Given the description of an element on the screen output the (x, y) to click on. 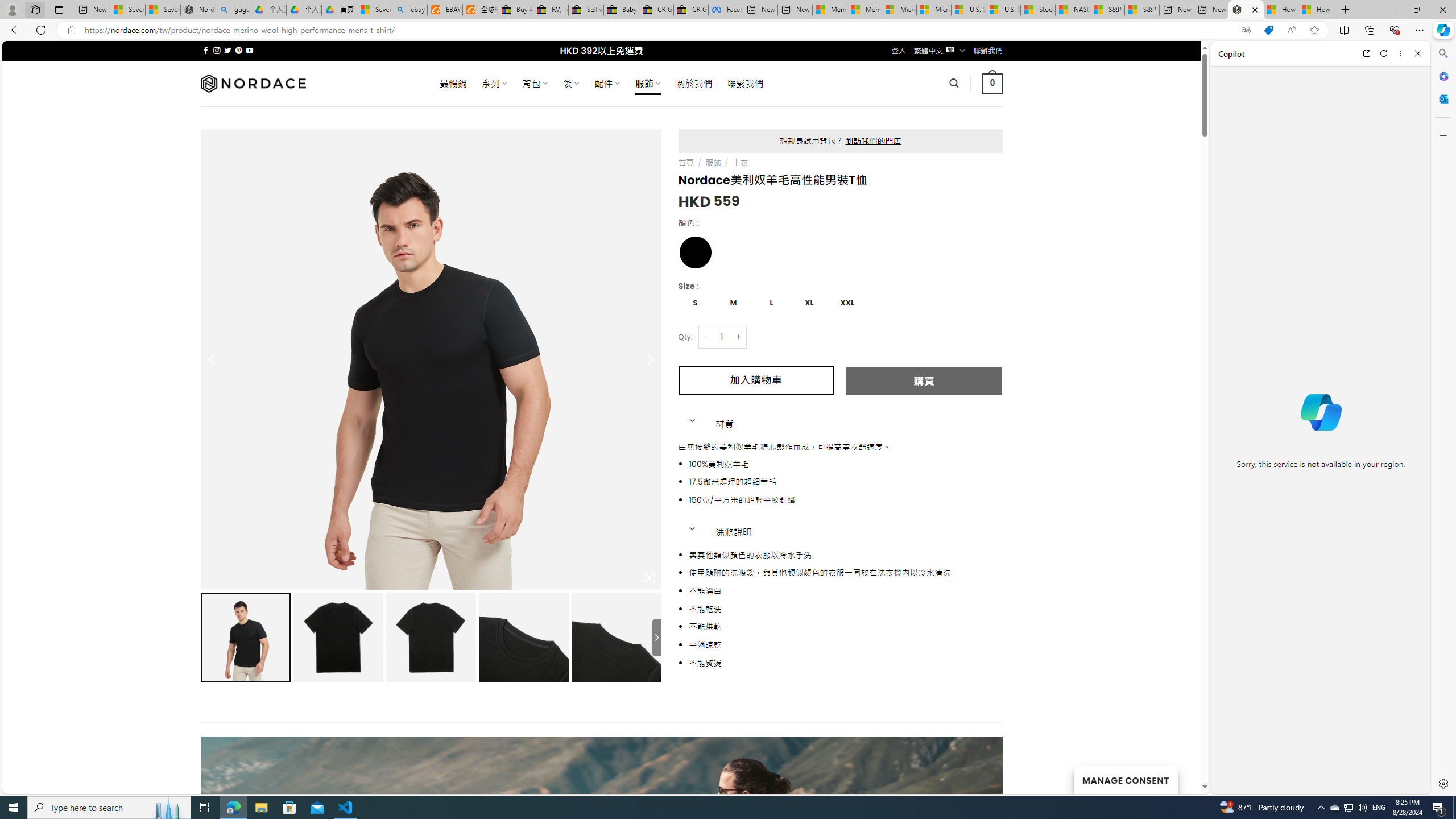
MANAGE CONSENT (1125, 779)
